Given the description of an element on the screen output the (x, y) to click on. 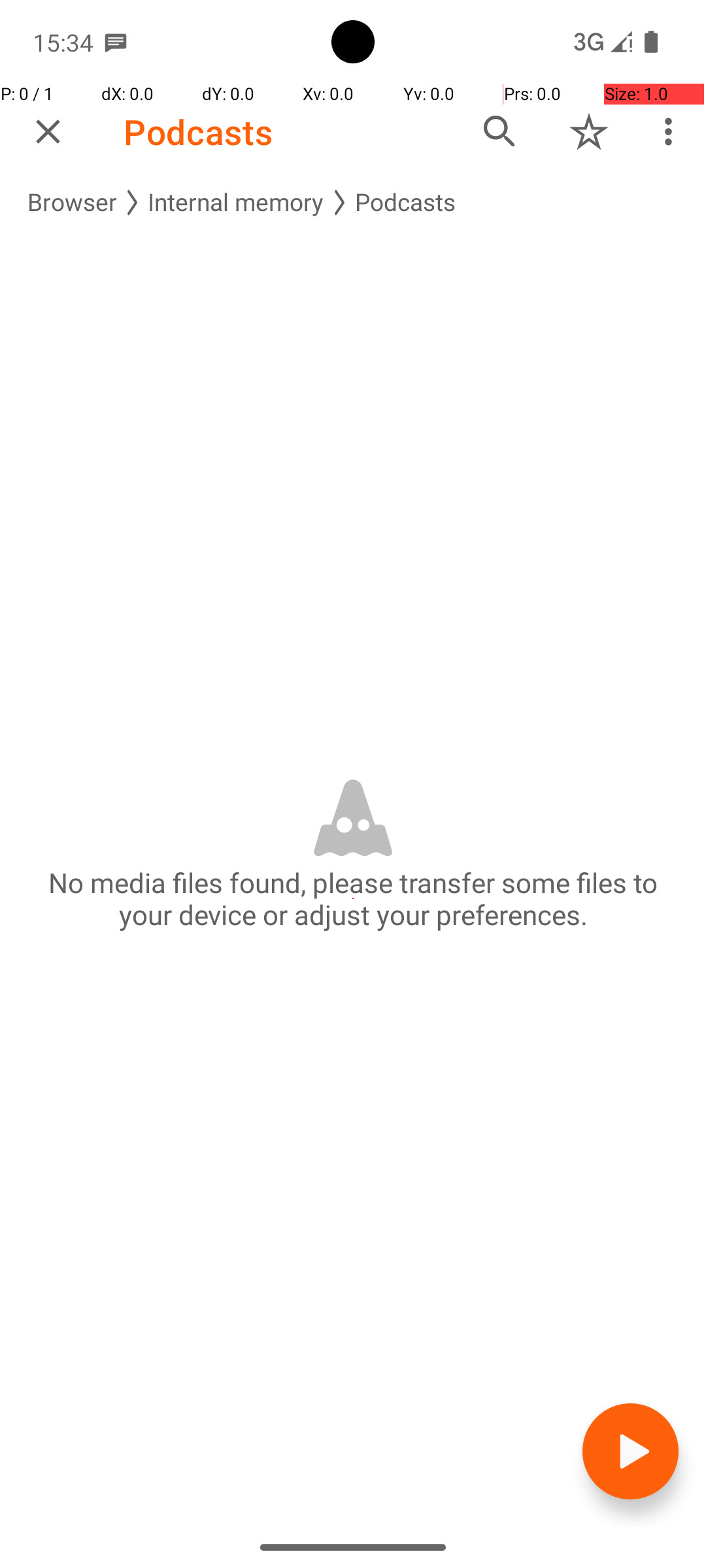
Podcasts Element type: android.widget.TextView (197, 131)
Add to favorites Element type: android.widget.TextView (588, 131)
No media files found, please transfer some files to your device or adjust your preferences. Element type: android.widget.TextView (352, 897)
Play Element type: android.widget.ImageButton (630, 1451)
Browser Element type: android.widget.TextView (72, 202)
Internal memory Element type: android.widget.TextView (235, 202)
